Given the description of an element on the screen output the (x, y) to click on. 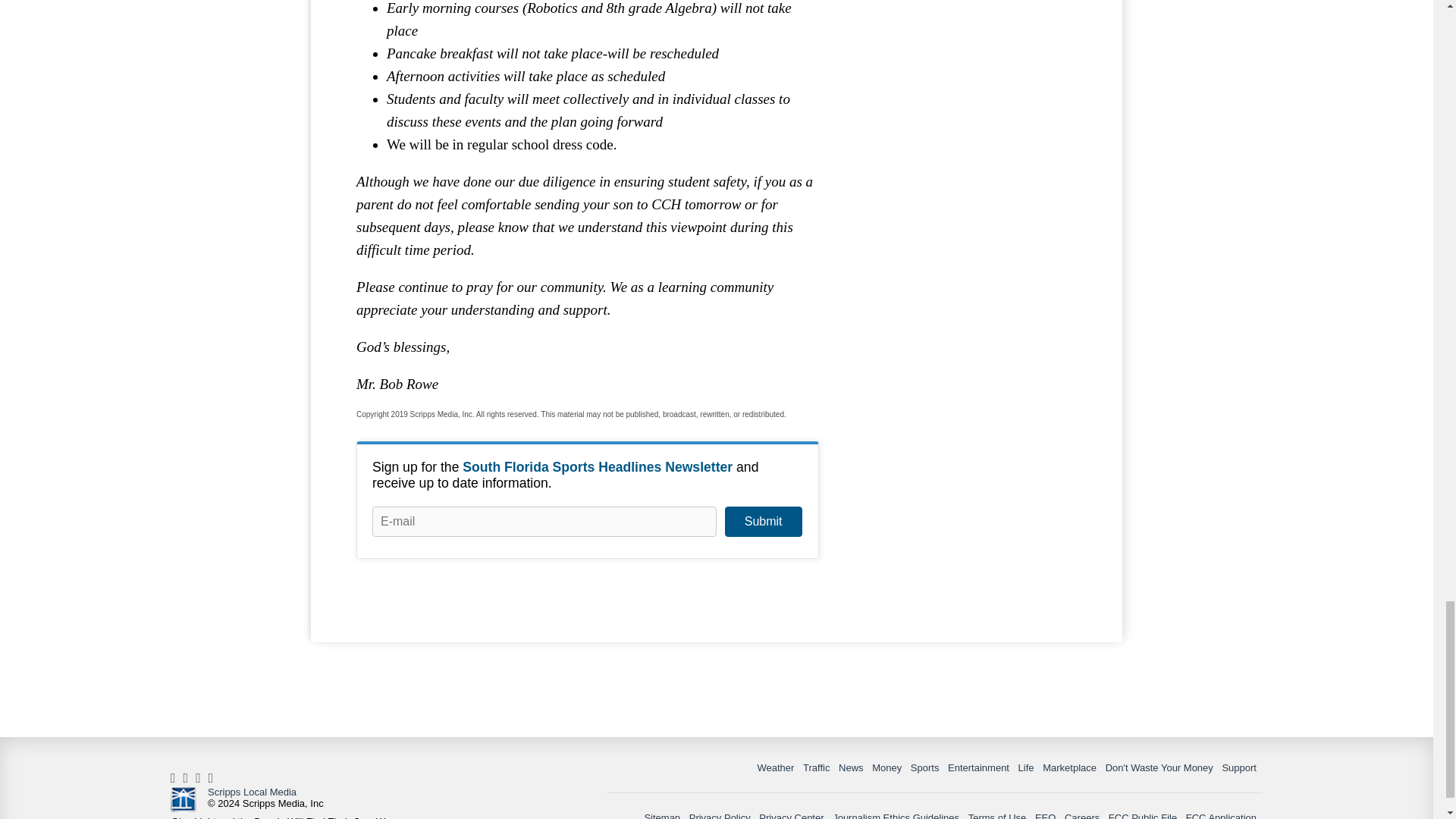
Submit (763, 521)
